Given the description of an element on the screen output the (x, y) to click on. 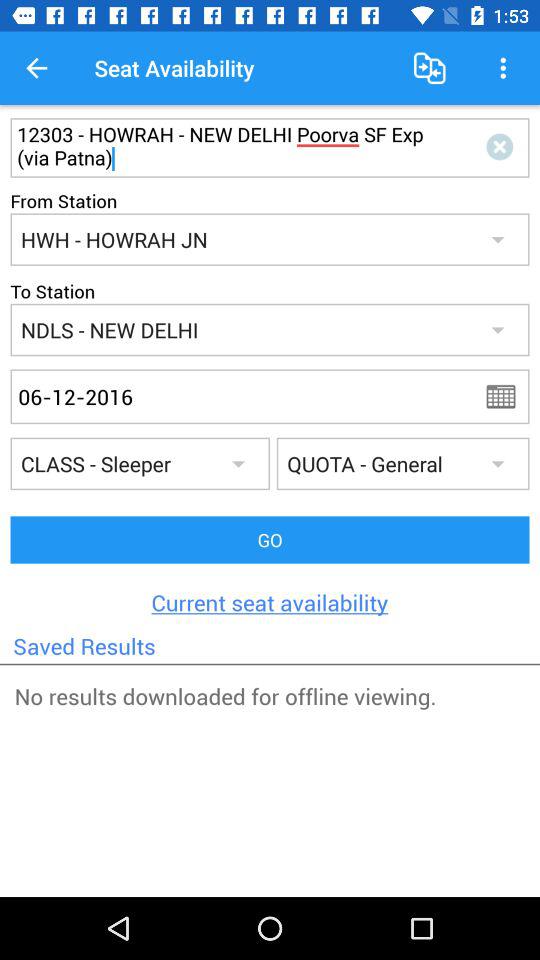
turn off the icon to the right of 06-12-2016 icon (507, 396)
